Given the description of an element on the screen output the (x, y) to click on. 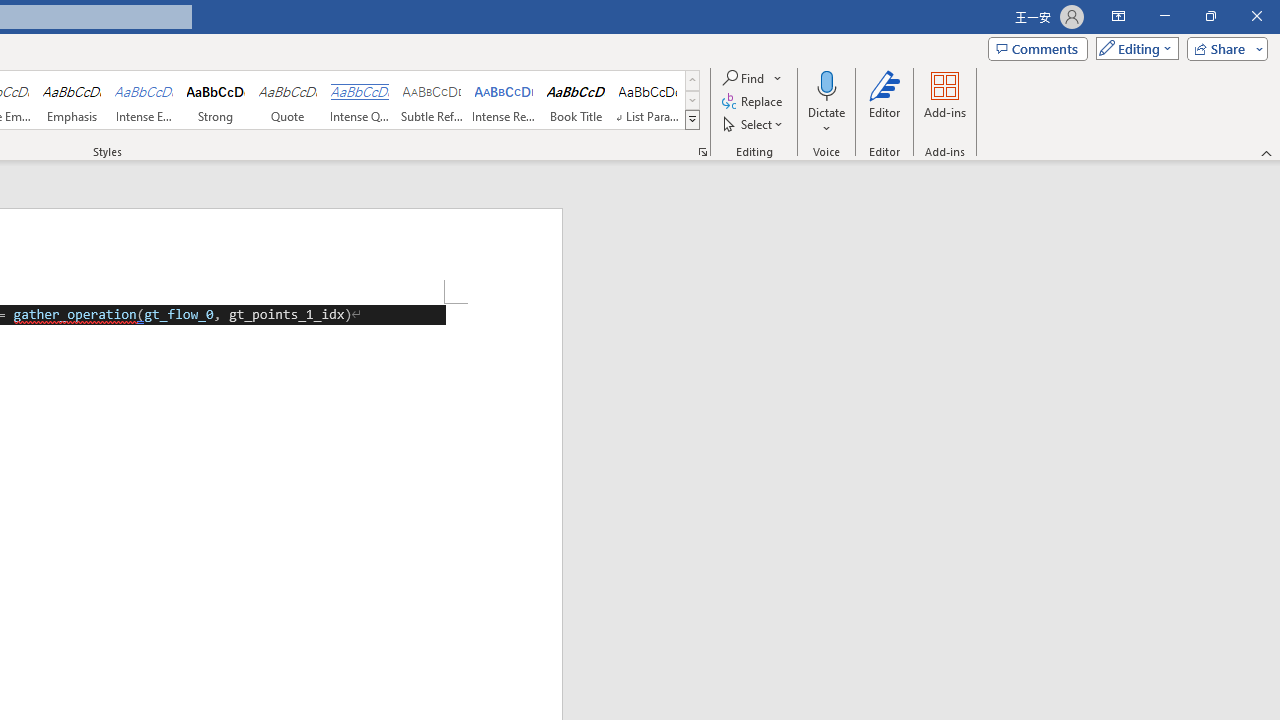
Styles... (702, 151)
Subtle Reference (431, 100)
Row up (692, 79)
Styles (692, 120)
Intense Quote (359, 100)
Intense Reference (504, 100)
Quote (287, 100)
Mode (1133, 47)
